Given the description of an element on the screen output the (x, y) to click on. 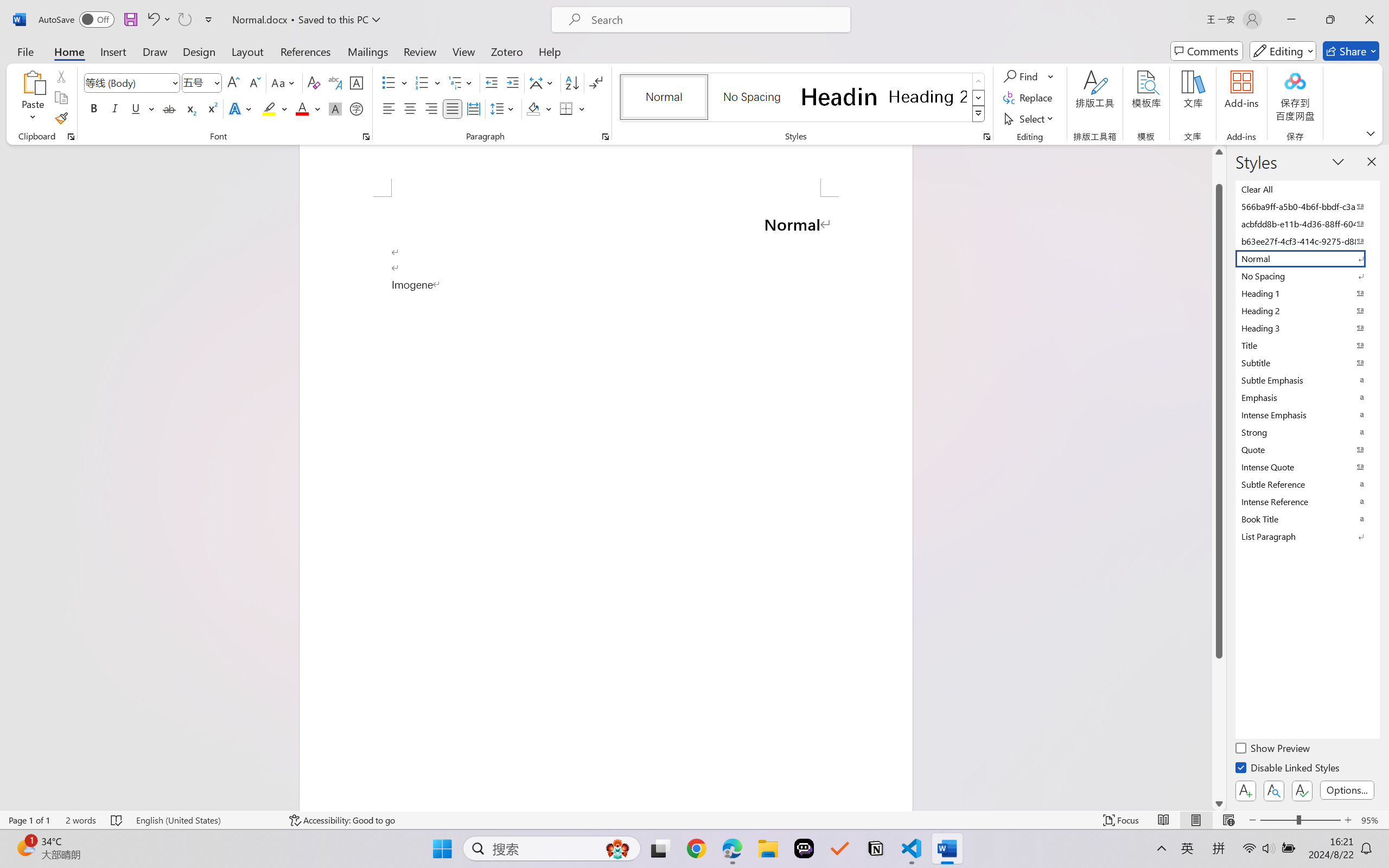
Shading (539, 108)
Heading 1 (839, 96)
Row Down (978, 97)
Undo Typing (152, 19)
Heading 3 (1306, 327)
Multilevel List (461, 82)
Italic (115, 108)
Text Highlight Color Yellow (269, 108)
